Given the description of an element on the screen output the (x, y) to click on. 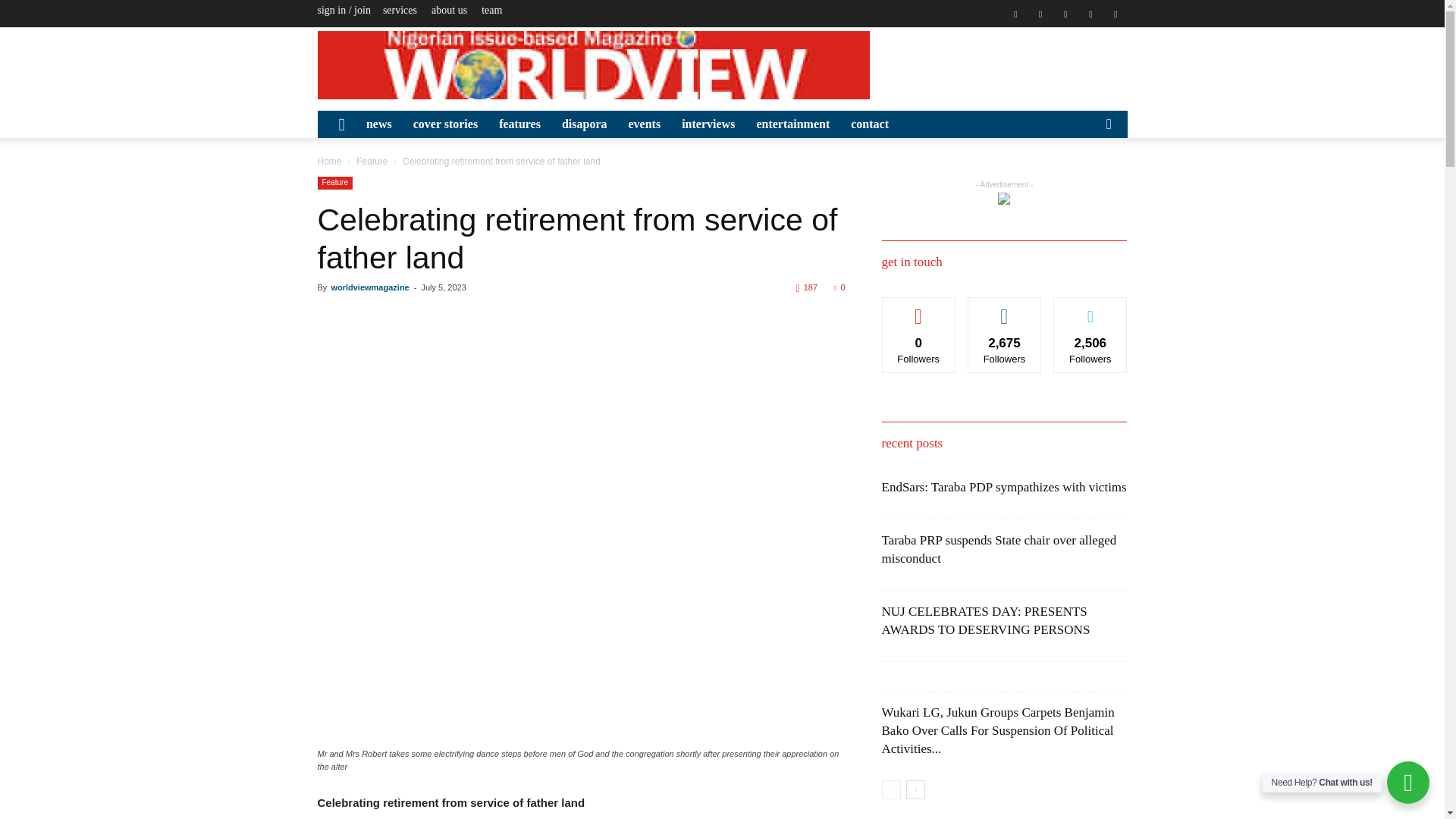
about us (448, 9)
news (379, 124)
services (399, 9)
team (491, 9)
